Given the description of an element on the screen output the (x, y) to click on. 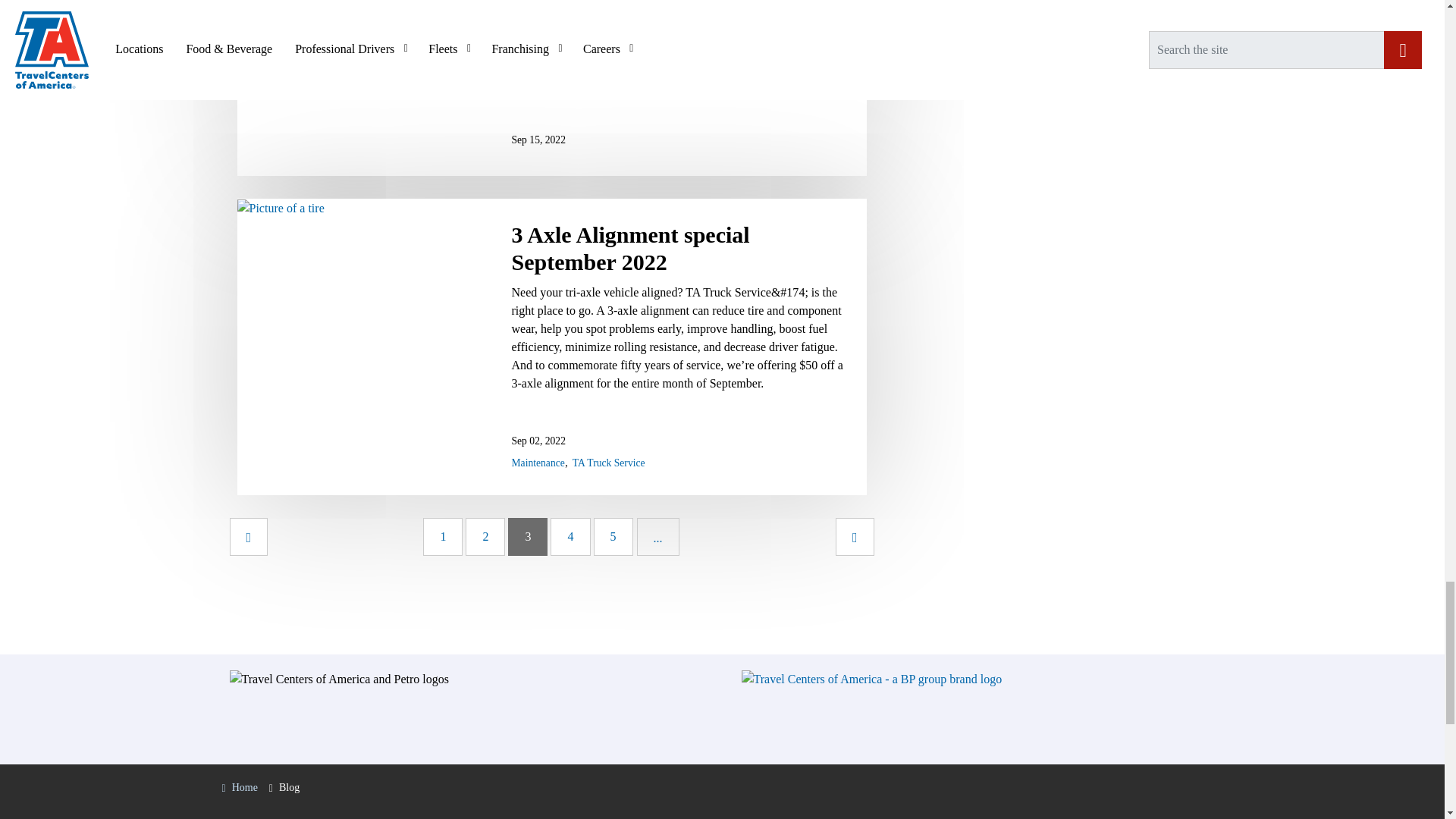
TA Truck Service (608, 462)
Next (855, 536)
Maintenance (537, 462)
Previous (247, 536)
